Given the description of an element on the screen output the (x, y) to click on. 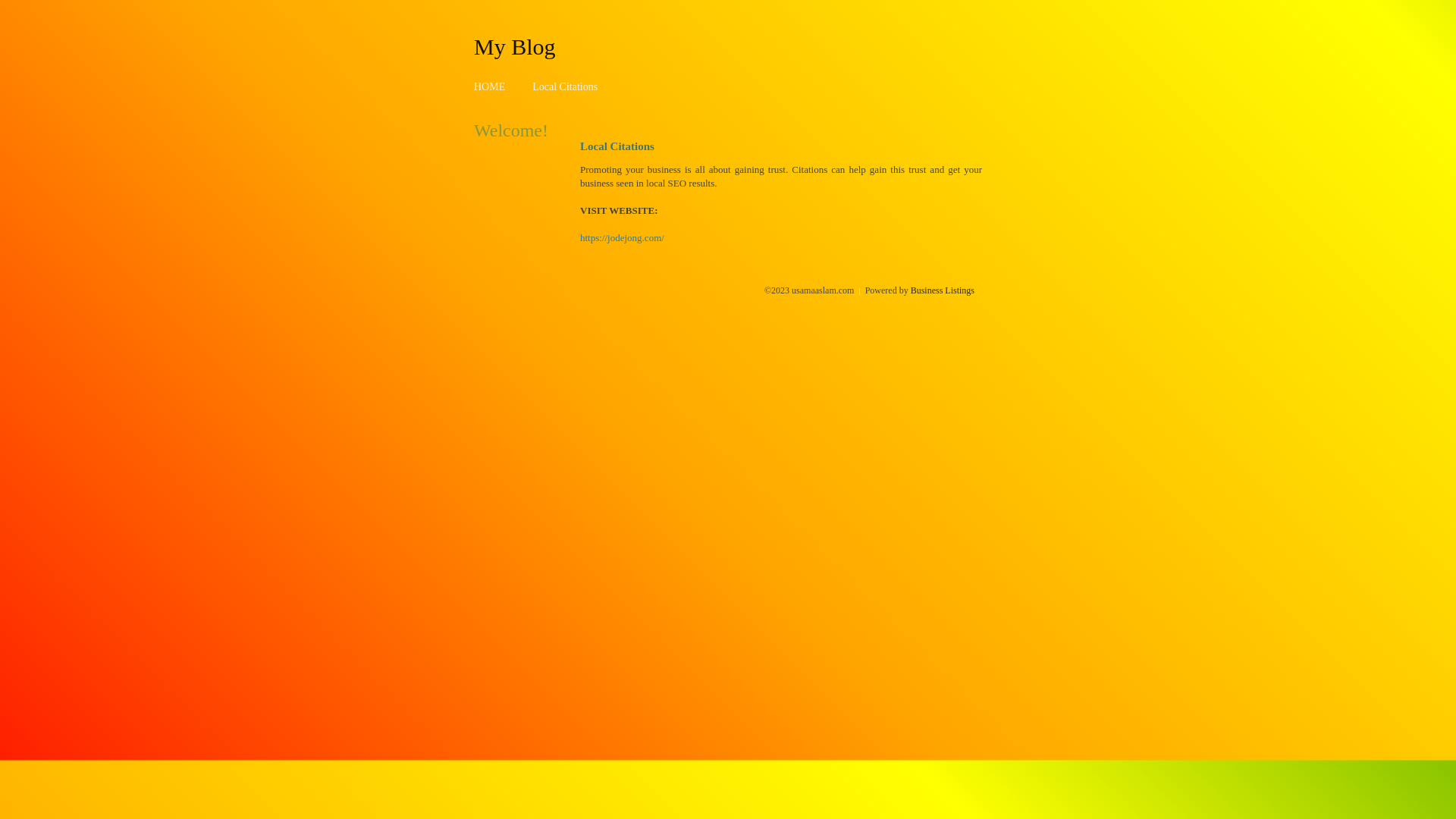
HOME Element type: text (489, 86)
Local Citations Element type: text (564, 86)
https://jodejong.com/ Element type: text (622, 237)
Business Listings Element type: text (942, 290)
My Blog Element type: text (514, 46)
